Given the description of an element on the screen output the (x, y) to click on. 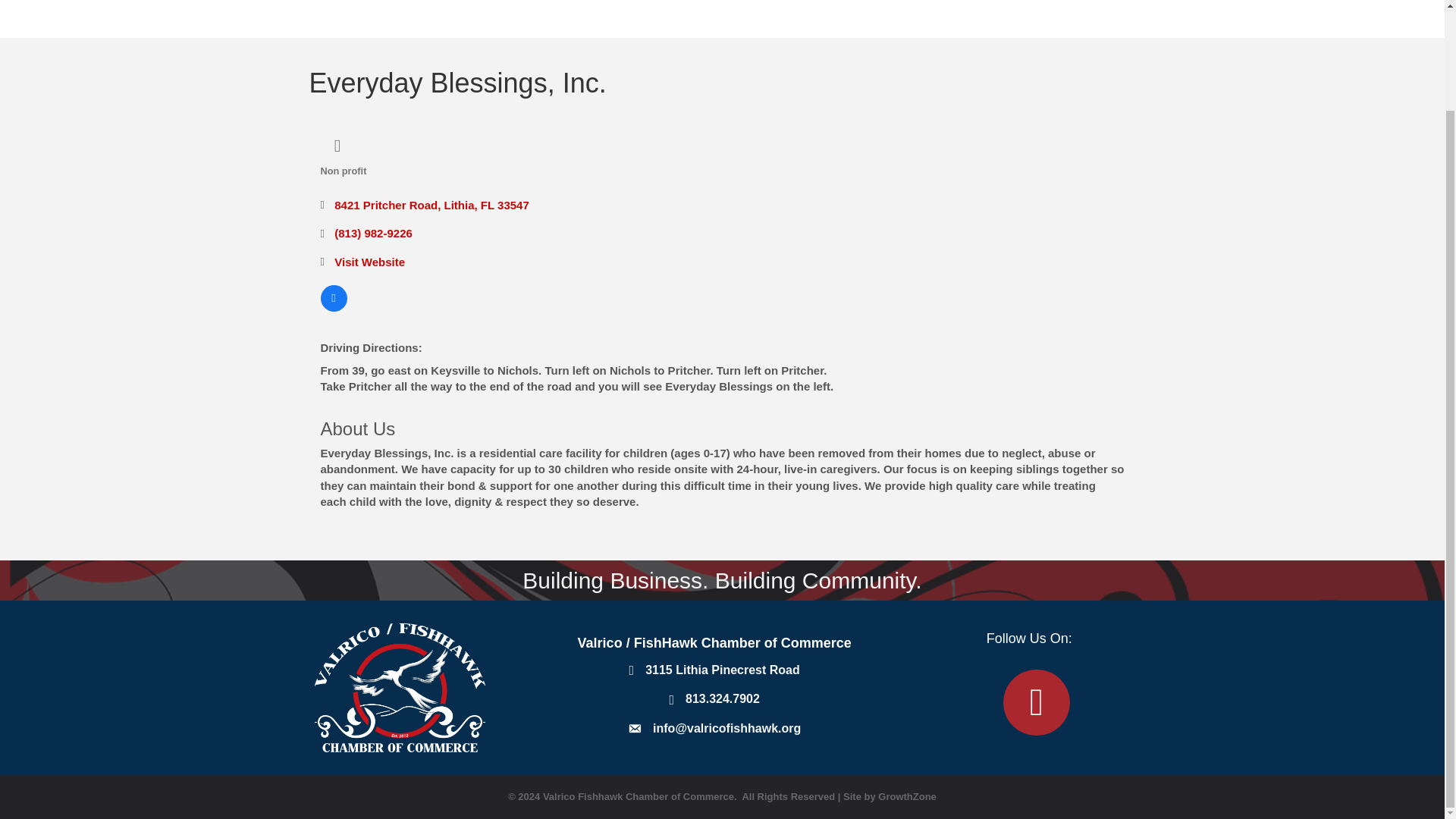
View on Facebook (333, 307)
